Given the description of an element on the screen output the (x, y) to click on. 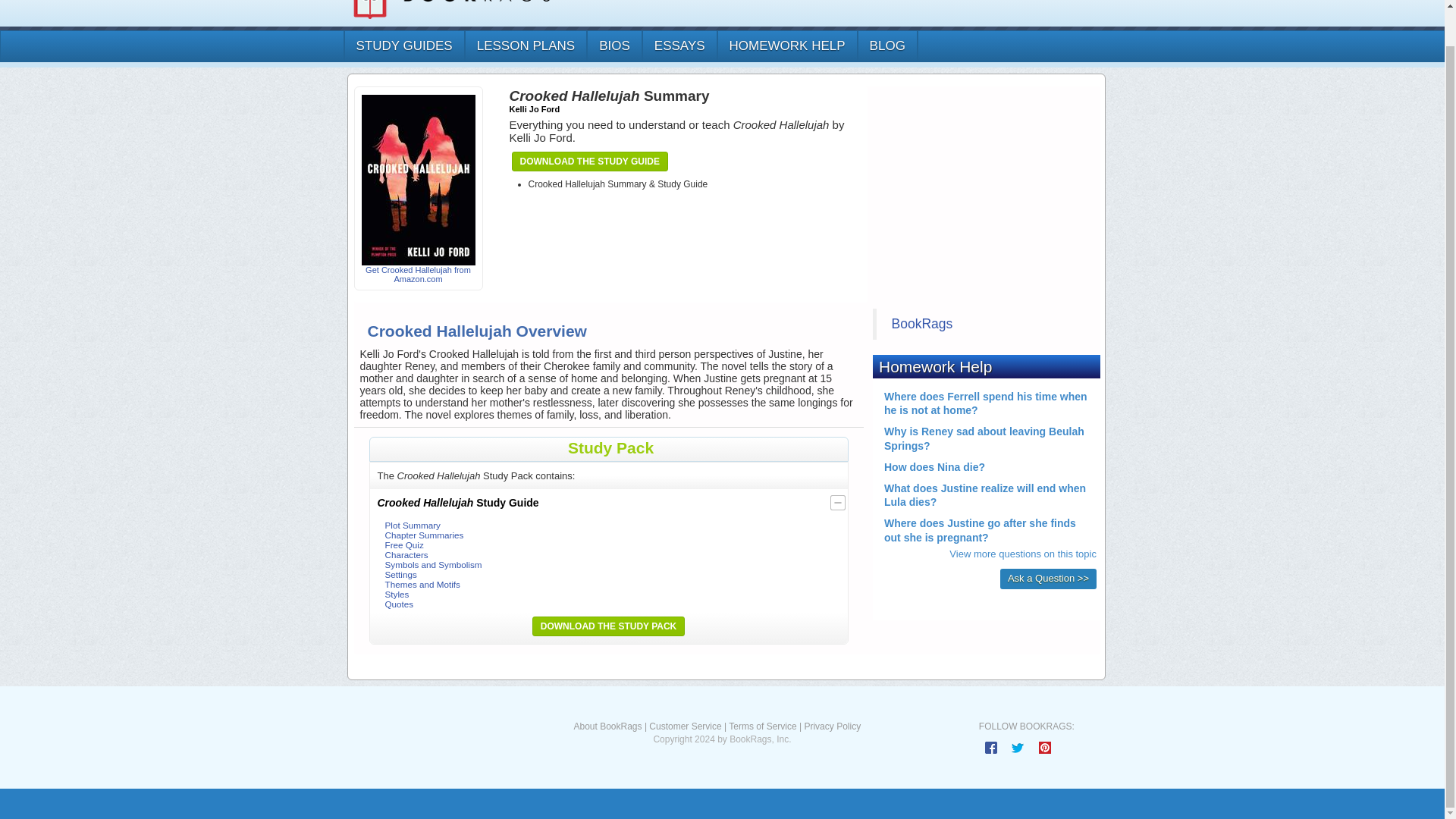
STUDY GUIDES (402, 46)
Get Crooked Hallelujah from Amazon.com (418, 229)
Download the Study Guide (589, 161)
Quotes (399, 603)
Themes and Motifs (422, 583)
Plot Summary (413, 524)
Download the Study Pack (608, 626)
Free Quiz (404, 544)
Chapter Summaries (424, 534)
About BookRags (607, 726)
